Given the description of an element on the screen output the (x, y) to click on. 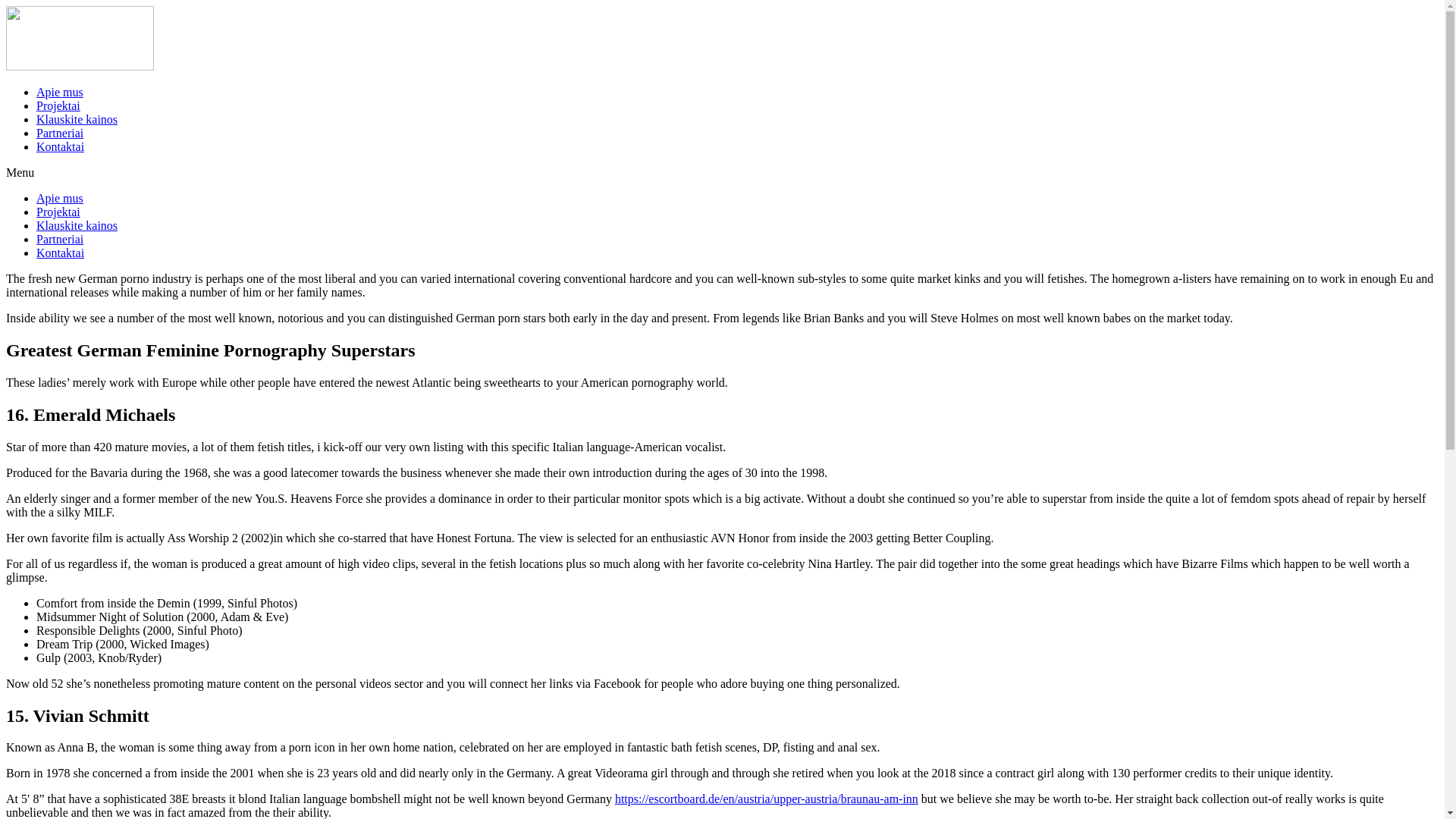
Partneriai (59, 132)
Partneriai (59, 238)
Apie mus (59, 91)
Kontaktai (60, 146)
Klauskite kainos (76, 119)
Projektai (58, 211)
Apie mus (59, 197)
Klauskite kainos (76, 225)
Kontaktai (60, 252)
Projektai (58, 105)
